Given the description of an element on the screen output the (x, y) to click on. 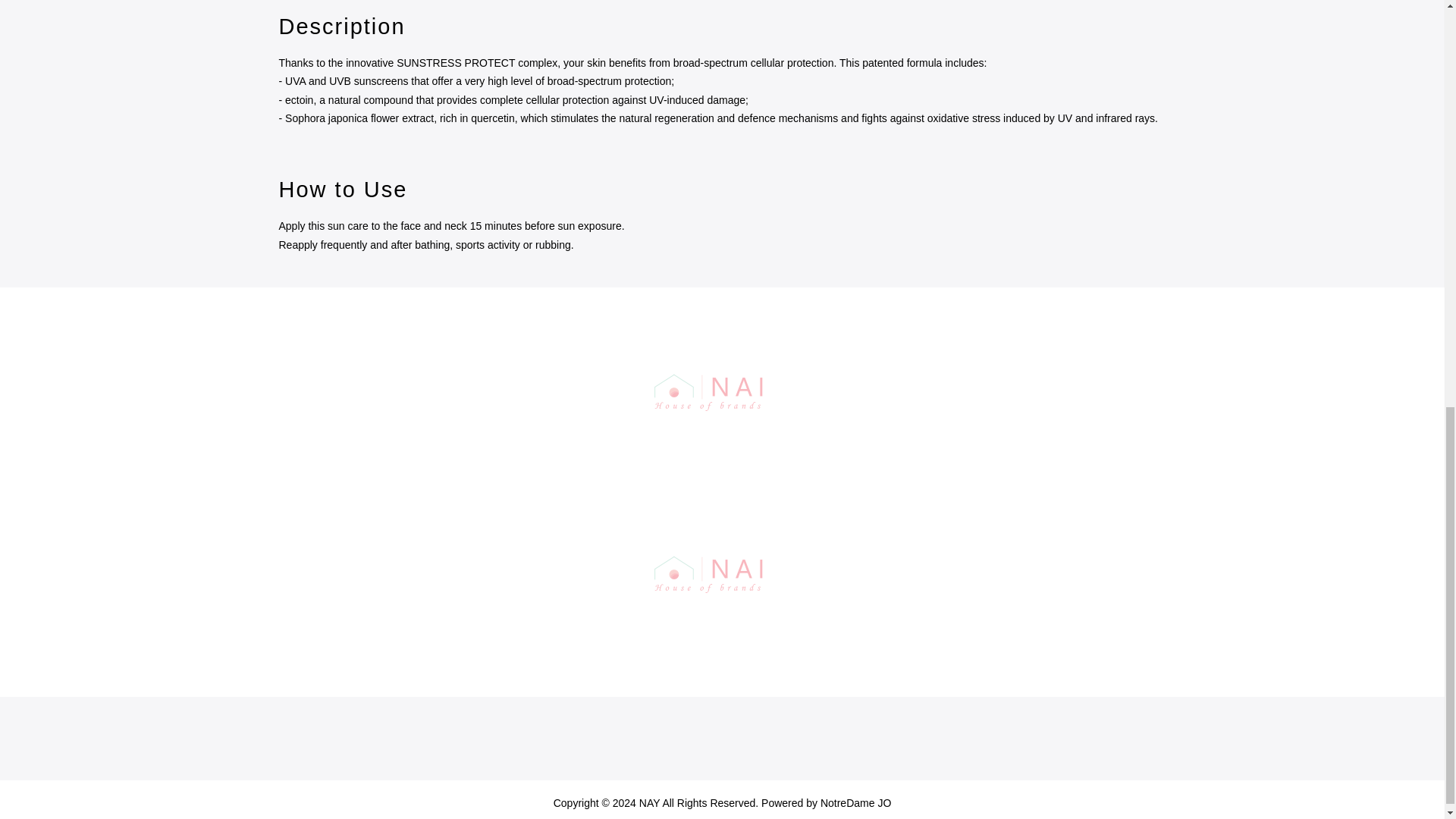
NotreDame JO (856, 802)
